Given the description of an element on the screen output the (x, y) to click on. 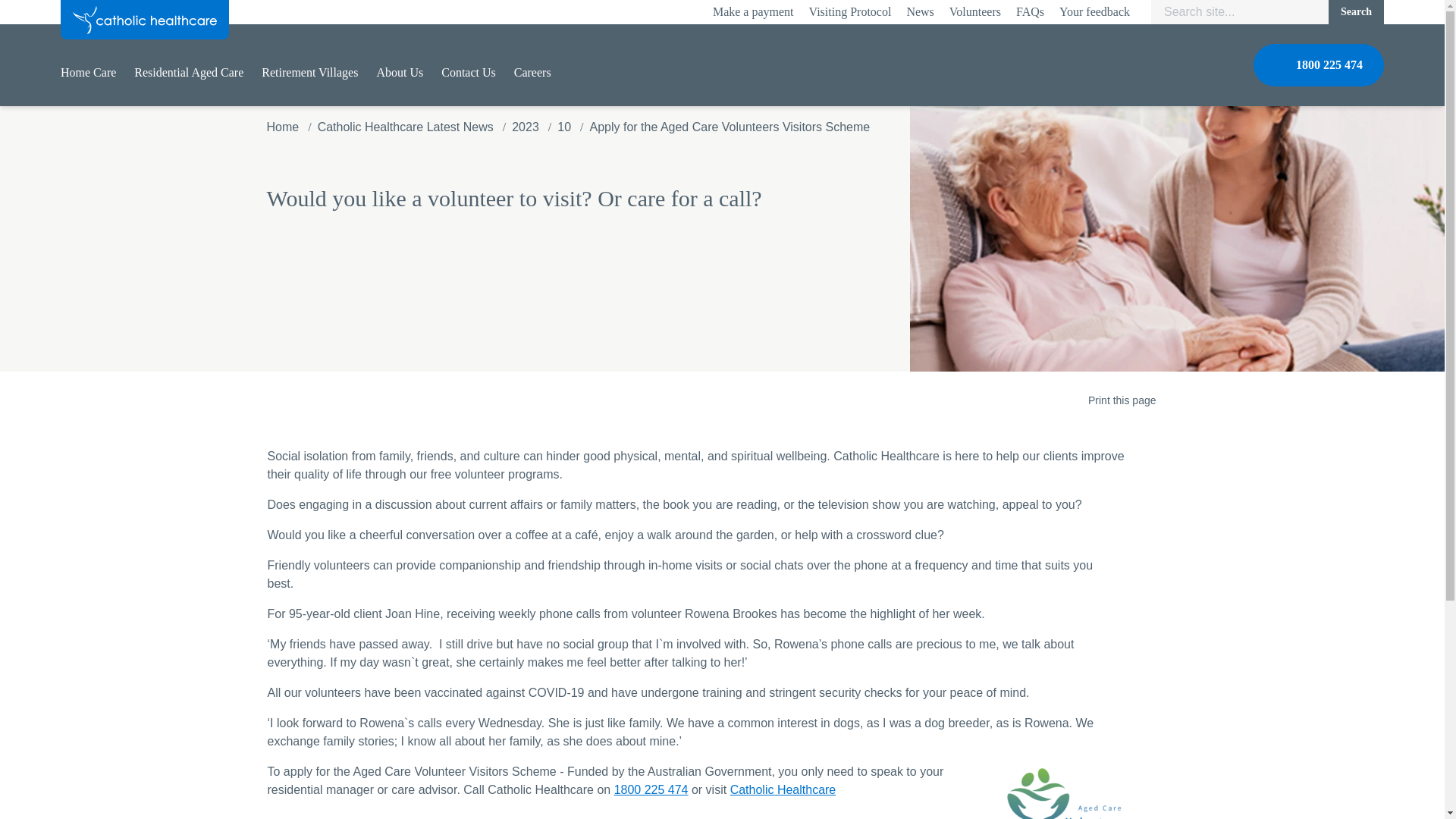
FAQs (1029, 12)
Your feedback (1094, 12)
News (919, 12)
Make a payment (753, 12)
Home Care (88, 72)
Visiting Protocol (850, 12)
Search (1355, 12)
Volunteers (975, 12)
Residential Aged Care (188, 72)
